Given the description of an element on the screen output the (x, y) to click on. 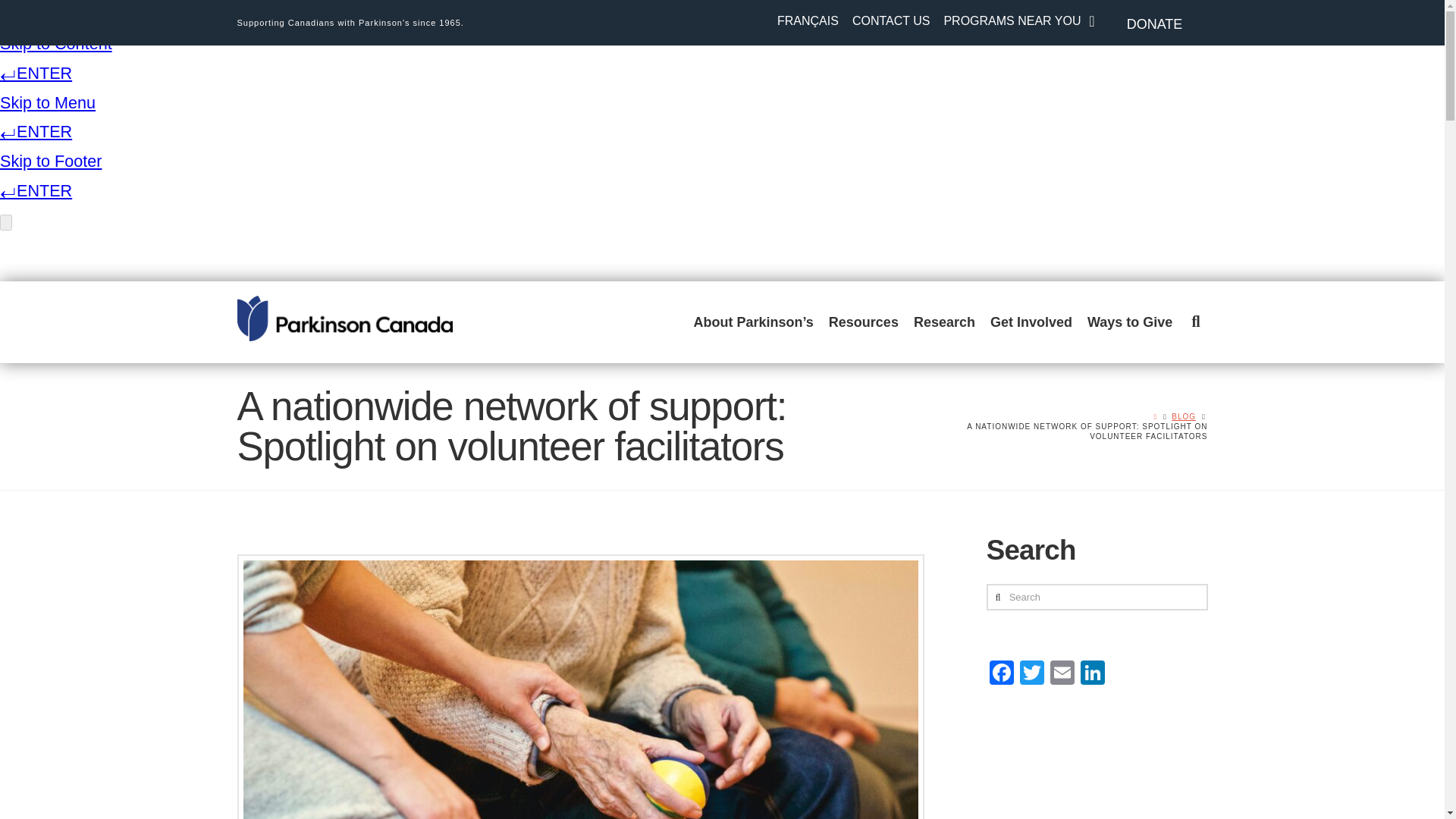
Resources (863, 322)
CONTACT US (895, 22)
Facebook (1001, 674)
Twitter (1031, 674)
LinkedIn (1092, 674)
Email (1061, 674)
Research (943, 322)
PROGRAMS NEAR YOU (1016, 22)
DONATE (1154, 23)
